Given the description of an element on the screen output the (x, y) to click on. 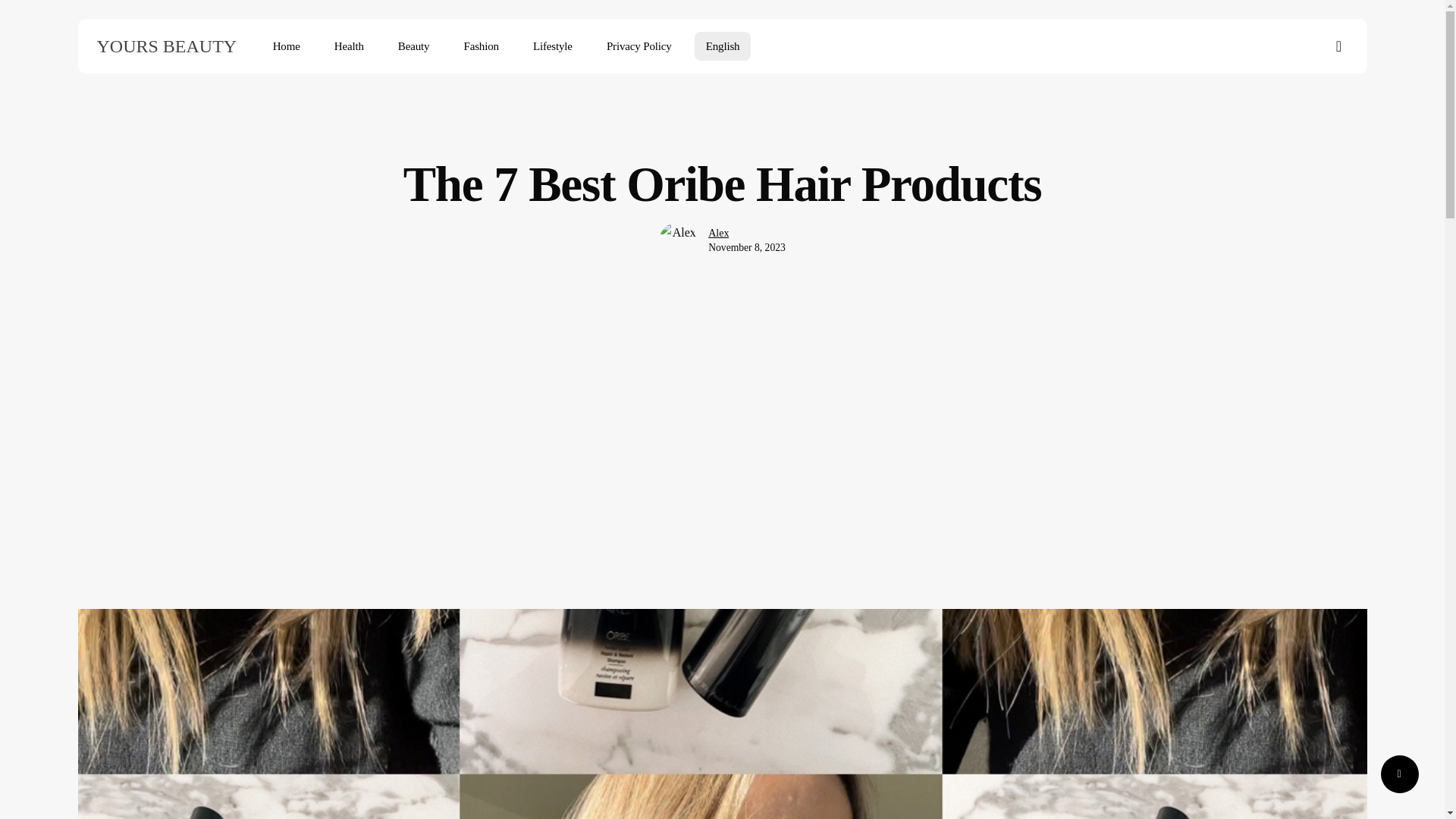
Fashion (480, 45)
Posts by Alex (718, 233)
English (722, 45)
Lifestyle (552, 45)
Home (286, 45)
Health (349, 45)
Alex (718, 233)
YOURS BEAUTY (167, 45)
Privacy Policy (638, 45)
